Given the description of an element on the screen output the (x, y) to click on. 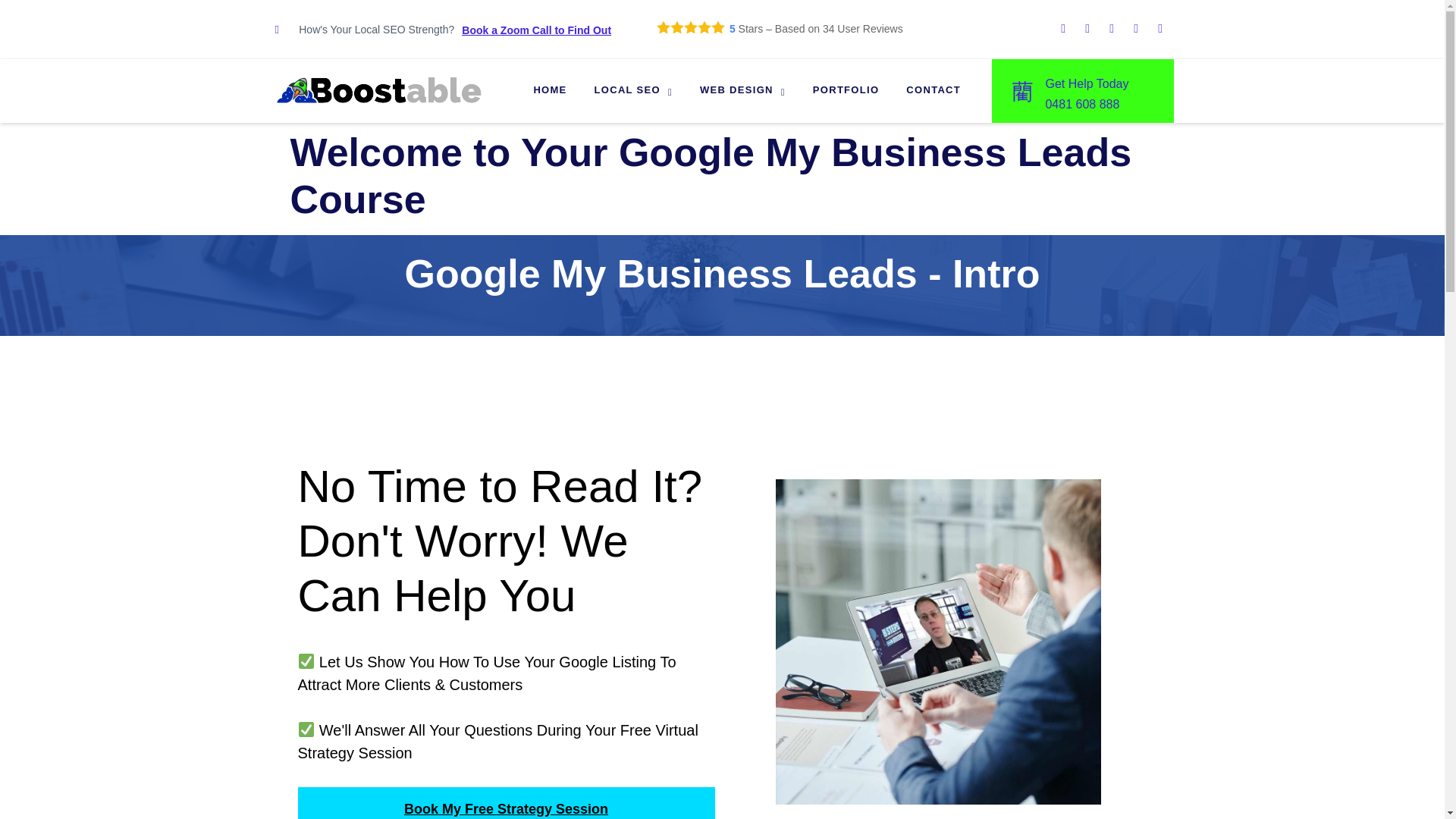
Get Help Today (1086, 83)
How's Your Local SEO Strength? (364, 29)
PORTFOLIO (846, 90)
LOCAL SEO (632, 90)
CONTACT (933, 90)
WEB DESIGN (742, 90)
HOME (549, 90)
Book a Zoom Call to Find Out (536, 30)
